Given the description of an element on the screen output the (x, y) to click on. 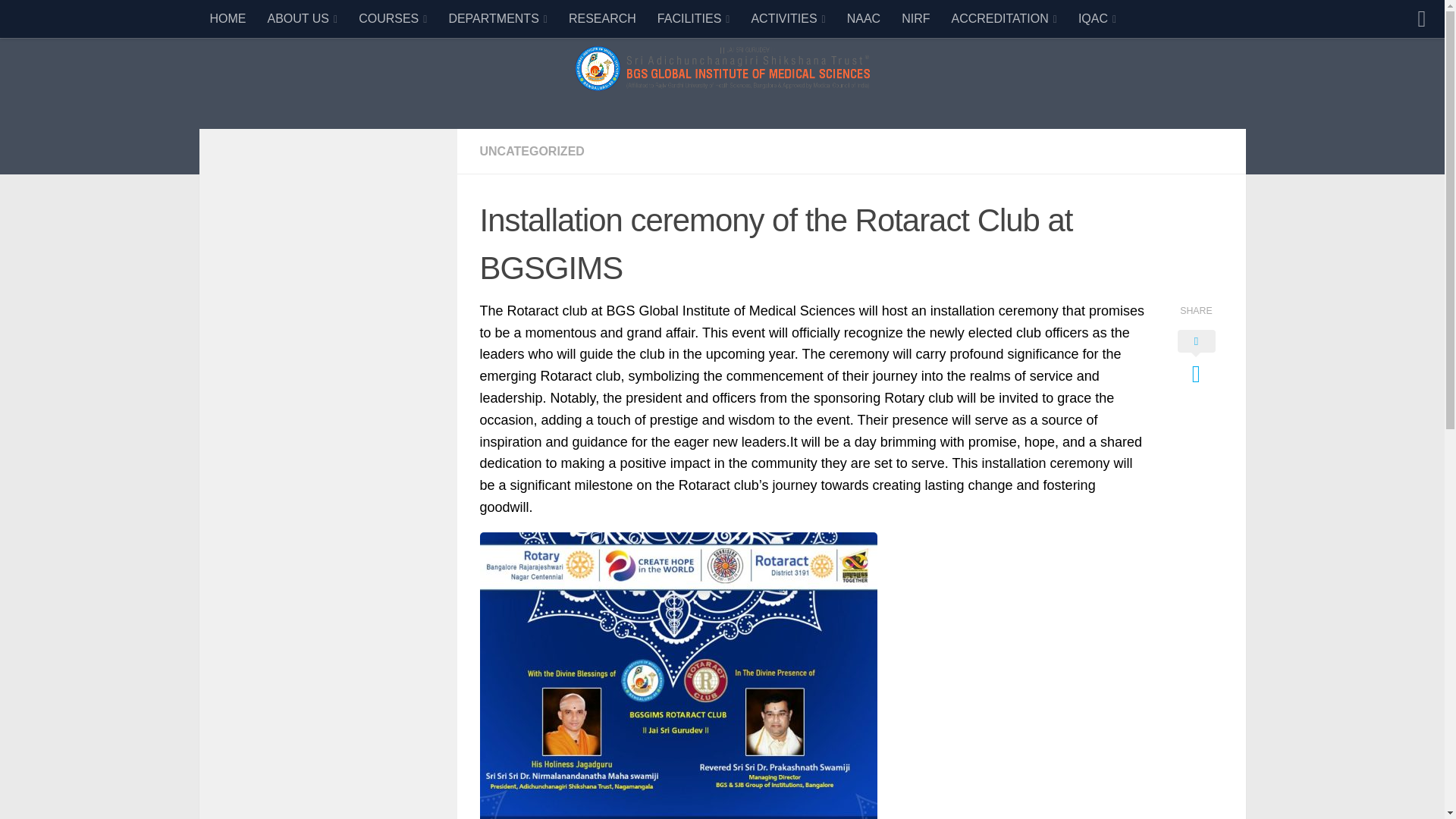
Skip to content (63, 20)
